Given the description of an element on the screen output the (x, y) to click on. 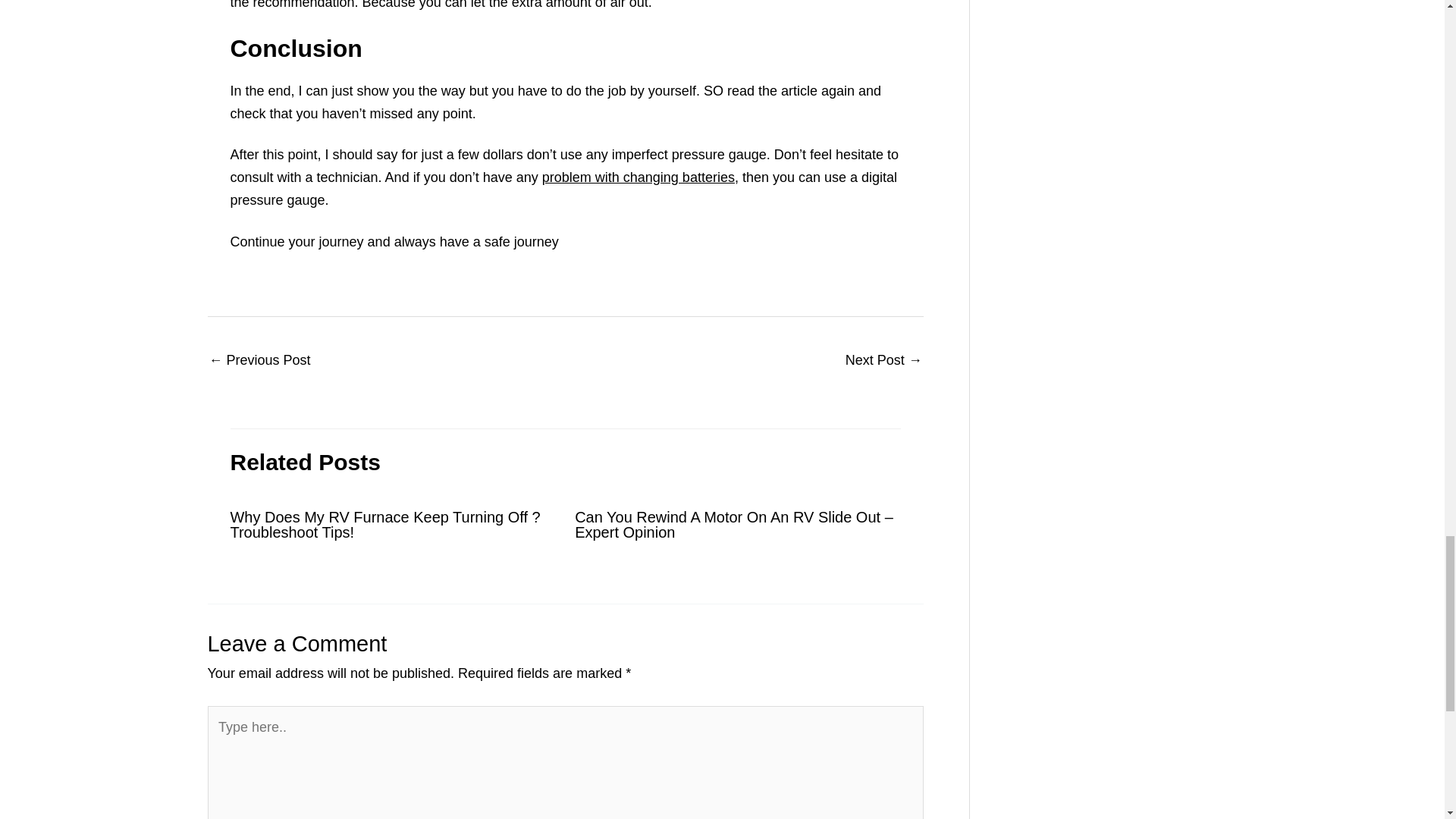
problem with changing batteries (638, 177)
How Do Load Leveling Rv Shocks Work ? (260, 361)
Why Does My RV Furnace Keep Turning Off ? Troubleshoot Tips! (385, 524)
